Given the description of an element on the screen output the (x, y) to click on. 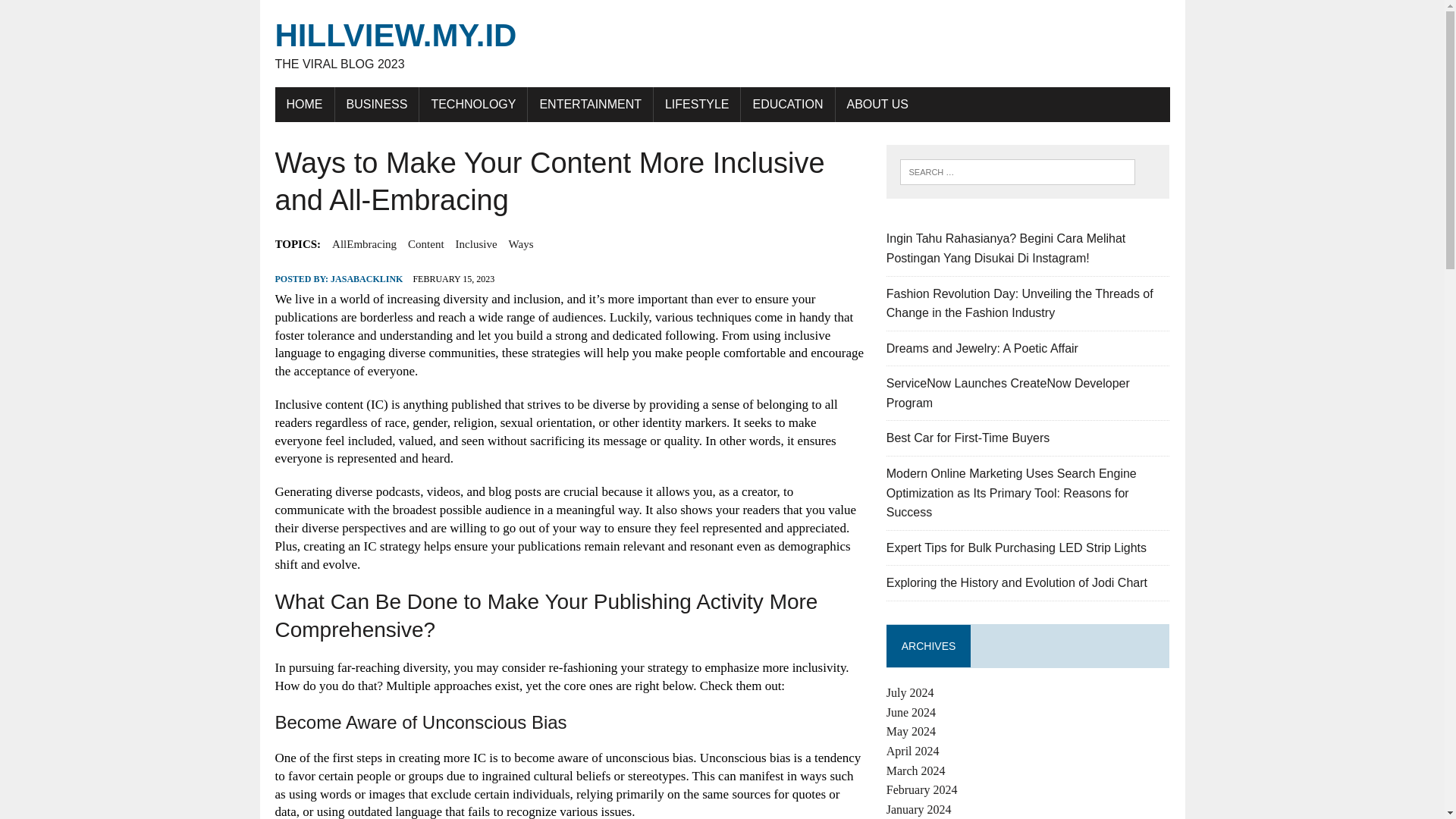
ServiceNow Launches CreateNow Developer Program (1007, 392)
Ways (521, 244)
Expert Tips for Bulk Purchasing LED Strip Lights (1016, 547)
Content (425, 244)
TECHNOLOGY (473, 104)
Exploring the History and Evolution of Jodi Chart (1016, 582)
hillview.my.id (722, 43)
Dreams and Jewelry: A Poetic Affair (722, 43)
ABOUT US (982, 348)
ServiceNow Launches CreateNow Developer Program (877, 104)
